Given the description of an element on the screen output the (x, y) to click on. 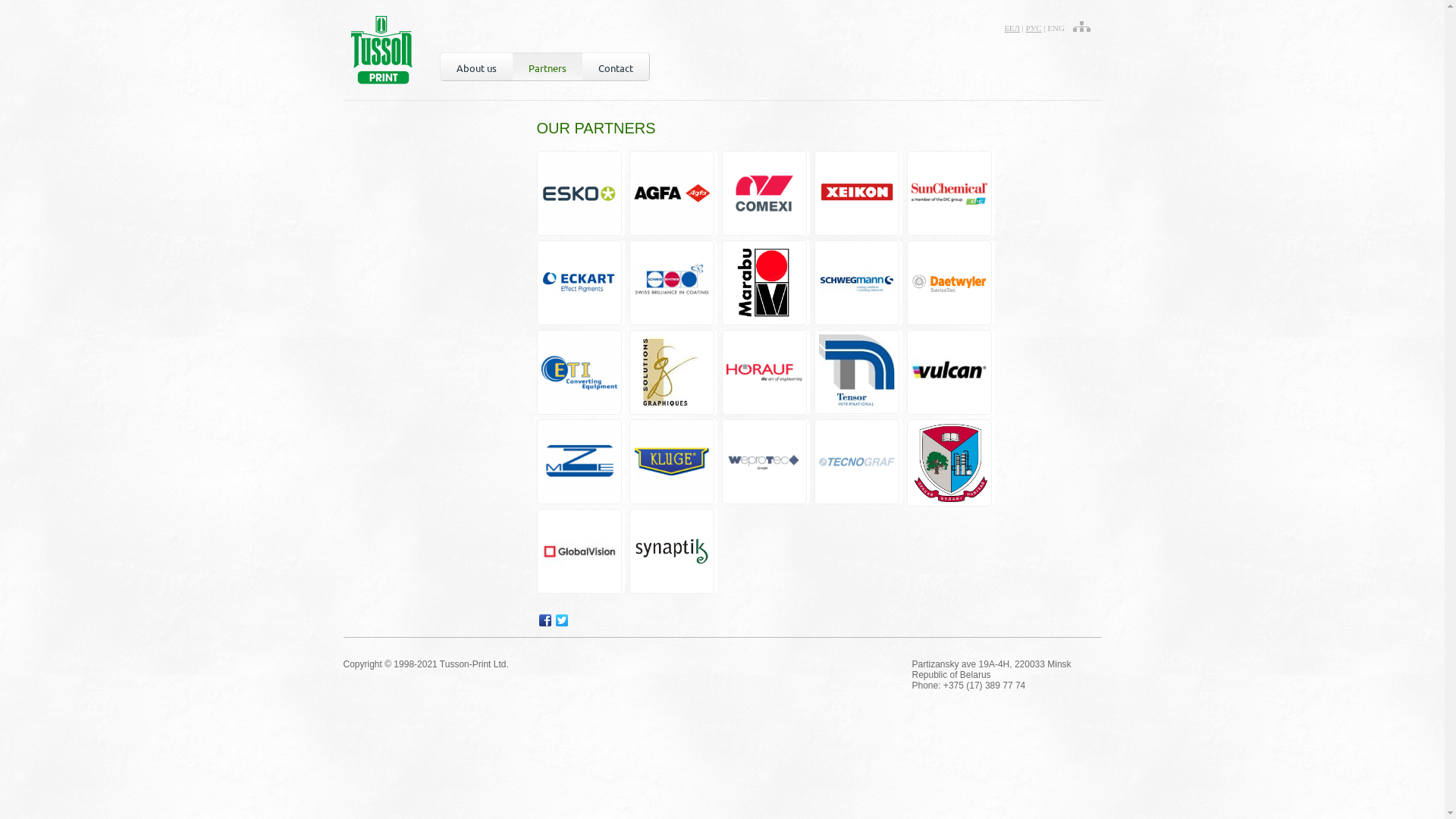
SUNCHEMICAL Element type: hover (950, 192)
XEIKON Element type: hover (858, 192)
Twitter Element type: hover (561, 620)
SOLUTIONS GRAPHIQUES Element type: hover (673, 371)
ECKART WERKE Element type: hover (580, 282)
SCHMID RHYNER Element type: hover (673, 282)
MZE MASCHINENBAU GMBH Element type: hover (580, 461)
SCHWEGMANN Element type: hover (858, 282)
Synaptik Element type: hover (673, 550)
ETI CONVERTING EQUIPMENT Element type: hover (580, 371)
BRANDTJEN & KLUGE, INC. Element type: hover (673, 461)
AGFA GRAPHICS Element type: hover (673, 192)
Daetwyler Element type: hover (950, 282)
TECNOGRAF Element type: hover (858, 461)
VULCAN Element type: hover (950, 371)
Contact Element type: text (615, 66)
WEPROTEC Element type: hover (765, 461)
Tusson-Print Element type: hover (380, 49)
Facebook Element type: hover (545, 620)
Marabu Element type: hover (765, 282)
HOERAUF Element type: hover (765, 371)
Esko Element type: hover (580, 192)
COMEXI GROUP Element type: hover (765, 192)
GlobalVision Element type: hover (580, 550)
Tensor International Element type: hover (858, 371)
Partners Element type: text (547, 66)
ENG Element type: text (1055, 27)
About us Element type: text (475, 66)
